Given the description of an element on the screen output the (x, y) to click on. 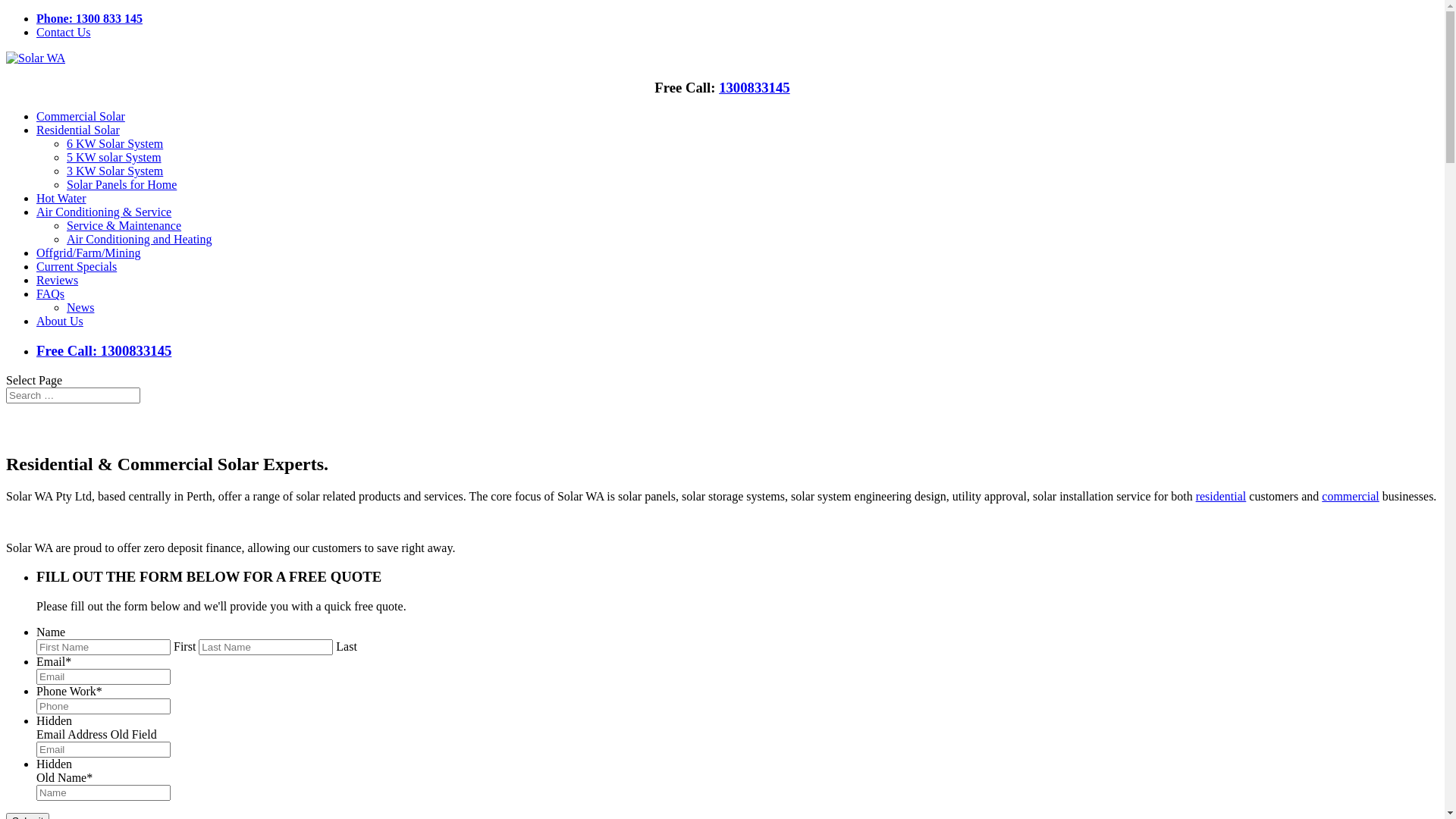
Solar Panels for Home Element type: text (121, 184)
Residential Solar Element type: text (77, 129)
News Element type: text (80, 307)
5 KW solar System Element type: text (113, 156)
Hot Water Element type: text (61, 197)
commercial Element type: text (1350, 495)
Free Call: 1300833145 Element type: text (737, 350)
Service & Maintenance Element type: text (123, 225)
Phone: 1300 833 145 Element type: text (89, 18)
Current Specials Element type: text (76, 266)
Contact Us Element type: text (63, 31)
Air Conditioning & Service Element type: text (103, 211)
Offgrid/Farm/Mining Element type: text (88, 252)
Commercial Solar Element type: text (80, 115)
Search for: Element type: hover (73, 395)
3 KW Solar System Element type: text (114, 170)
residential Element type: text (1220, 495)
FAQs Element type: text (50, 293)
Air Conditioning and Heating Element type: text (139, 238)
1300833145 Element type: text (754, 87)
6 KW Solar System Element type: text (114, 143)
About Us Element type: text (59, 320)
Reviews Element type: text (57, 279)
